Given the description of an element on the screen output the (x, y) to click on. 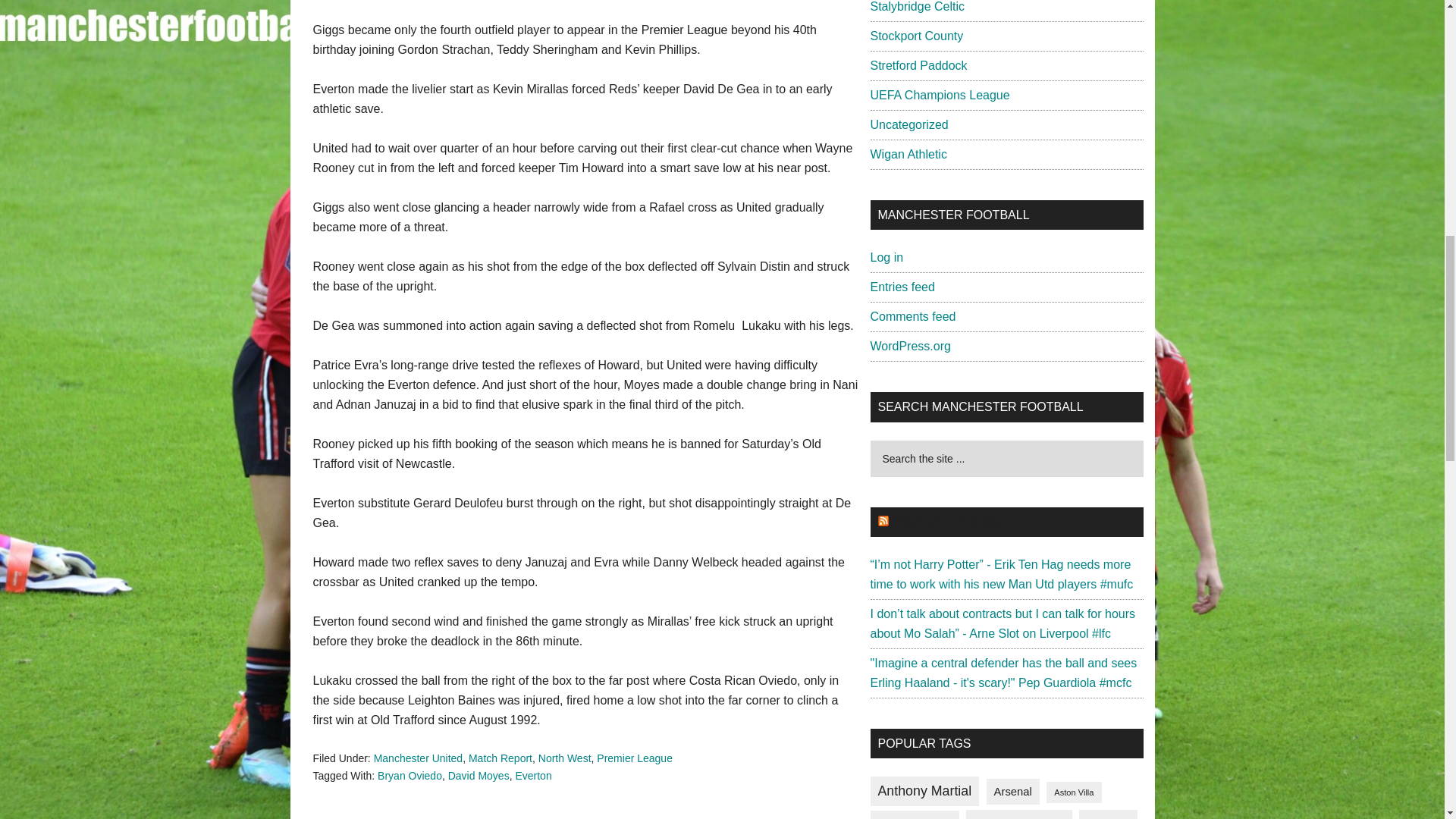
UEFA Champions League (940, 94)
David Moyes (478, 775)
Stalybridge Celtic (917, 6)
Premier League (634, 758)
Log in (887, 256)
North West (564, 758)
Bryan Oviedo (409, 775)
Manchester United (418, 758)
